Given the description of an element on the screen output the (x, y) to click on. 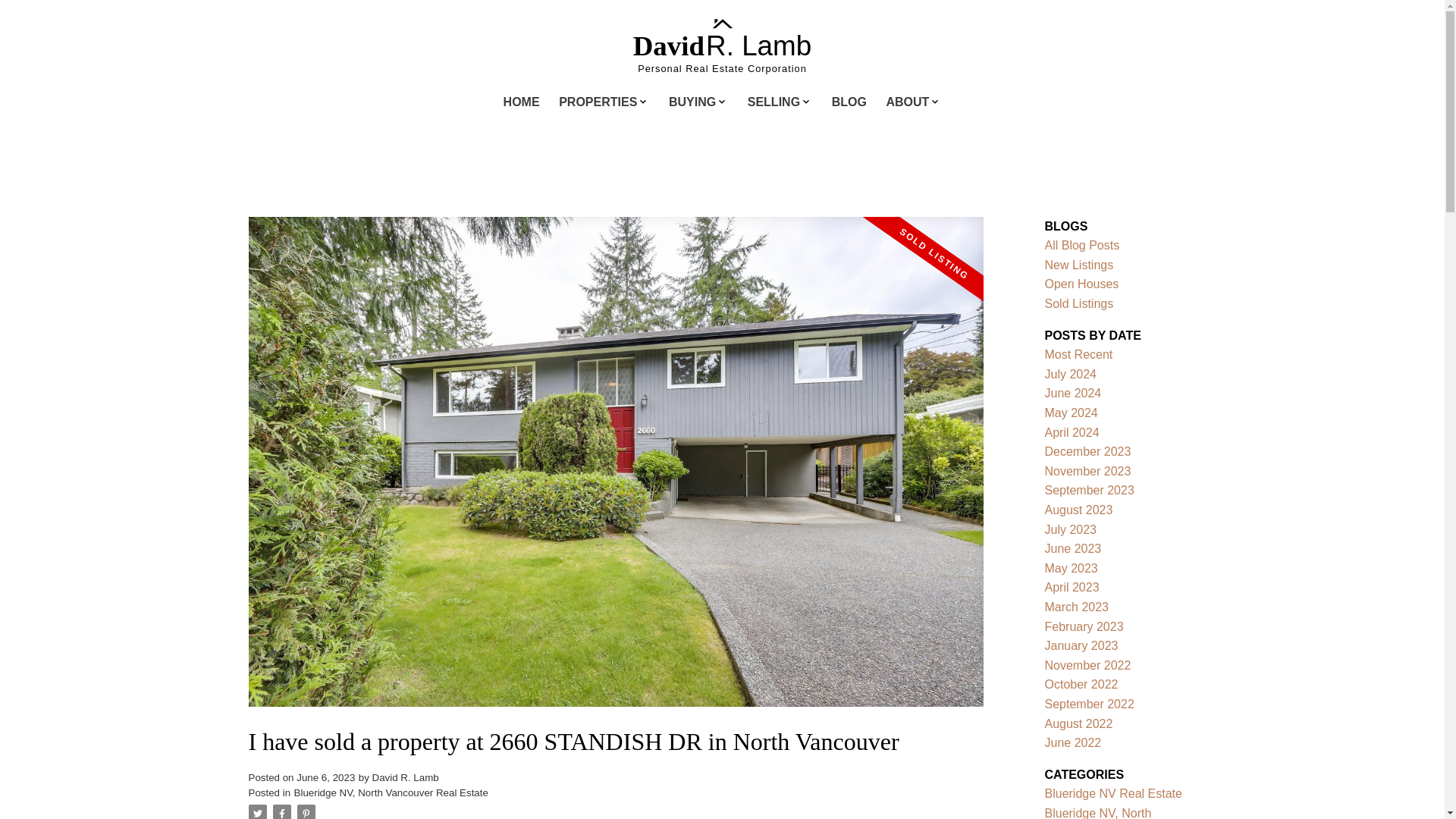
ABOUT (906, 103)
Sold Listings (1079, 303)
June 2023 (1073, 548)
August 2023 (1079, 509)
Blueridge NV, North Vancouver Real Estate (390, 792)
SELLING (773, 103)
BLOG (848, 103)
April 2023 (1072, 586)
HOME (521, 103)
September 2023 (1089, 490)
